Given the description of an element on the screen output the (x, y) to click on. 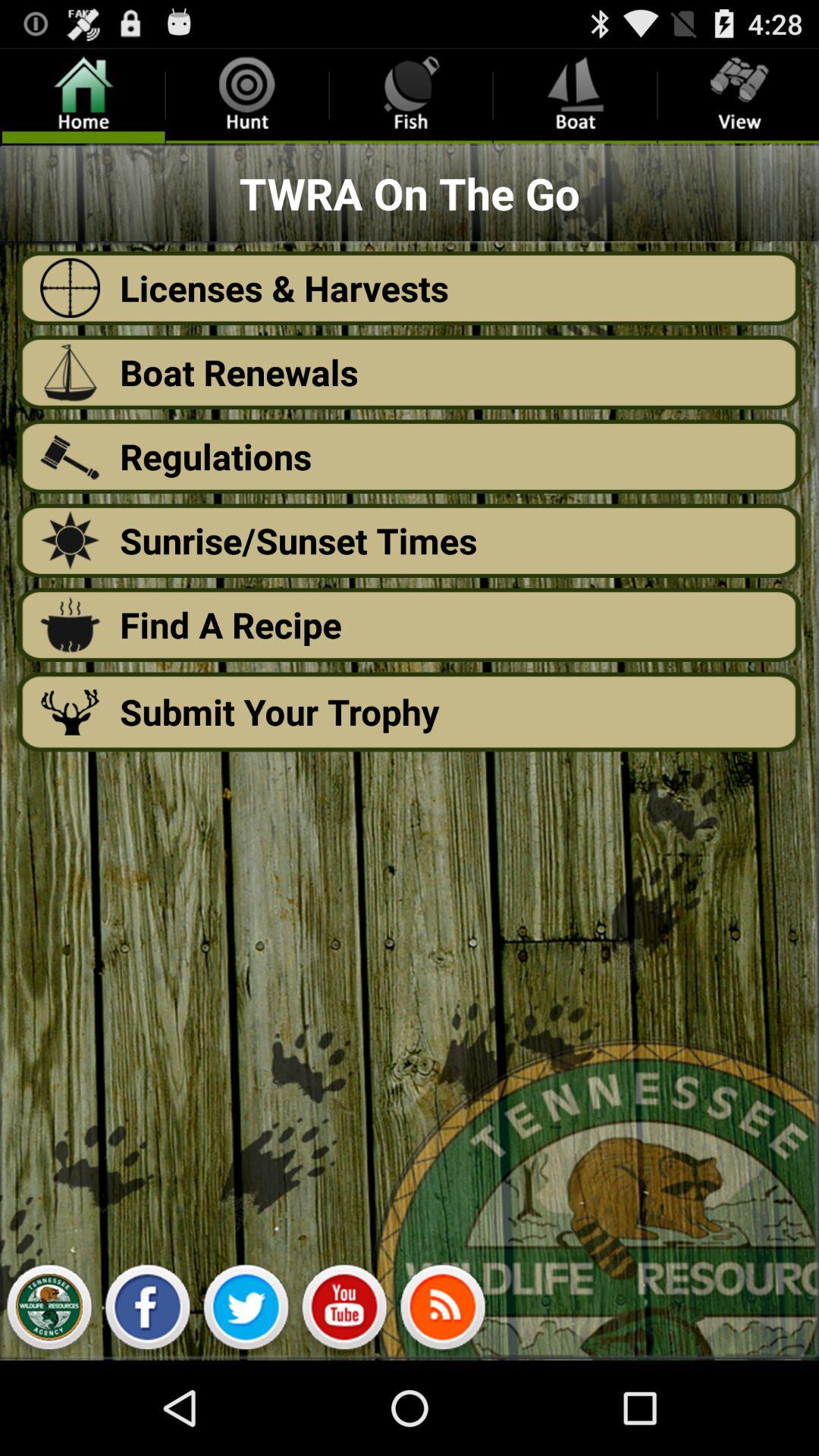
go to wifi option (442, 1311)
